Given the description of an element on the screen output the (x, y) to click on. 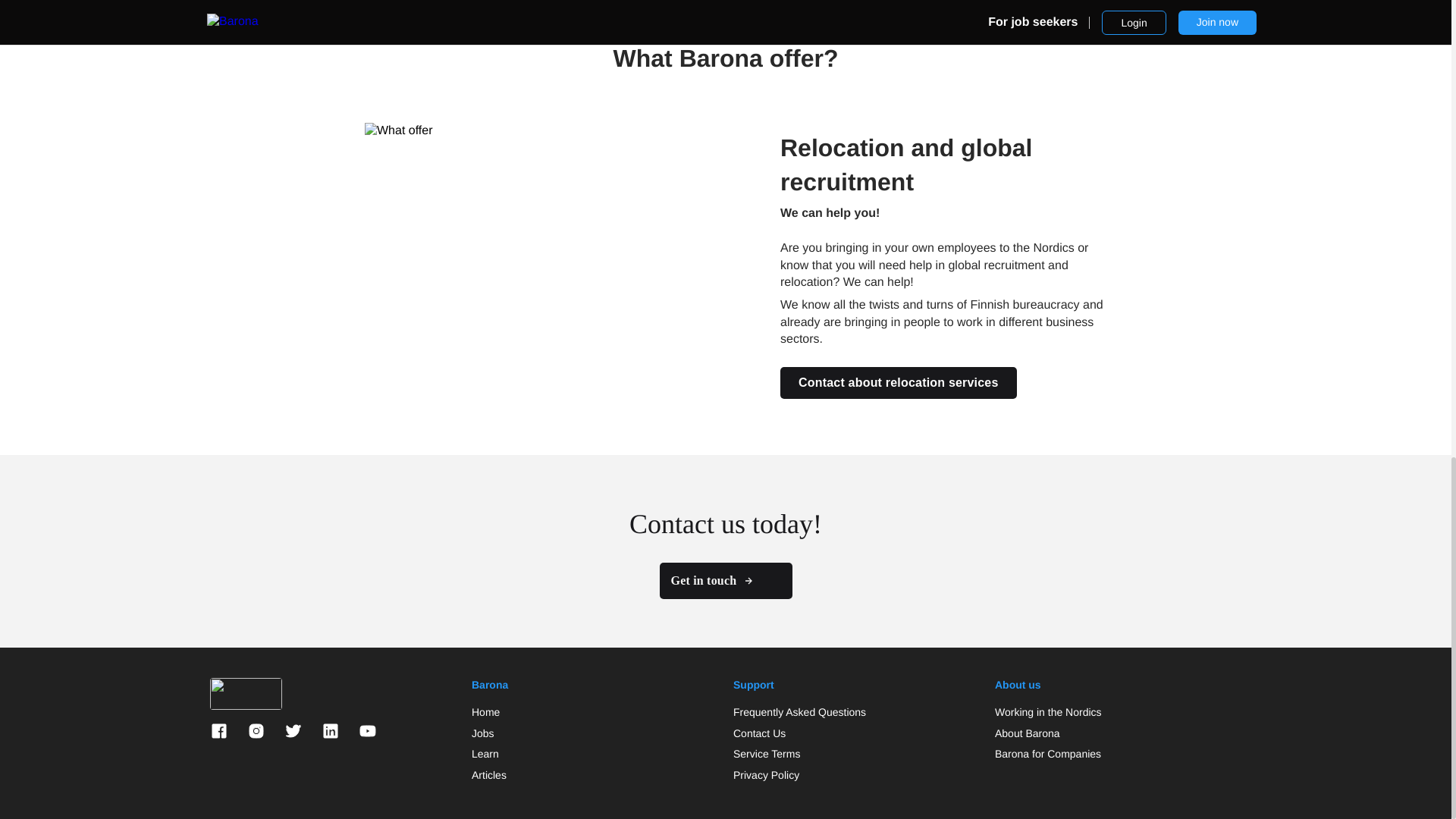
Service Terms (766, 754)
Get in touch (725, 580)
Frequently Asked Questions (799, 712)
Barona for Companies (1047, 754)
Privacy Policy (766, 775)
Contact about relocation services (898, 382)
Learn (485, 754)
Articles (488, 775)
Home (485, 712)
Working in the Nordics (1048, 712)
About Barona (1026, 734)
Jobs (483, 734)
Contact Us (759, 734)
